Given the description of an element on the screen output the (x, y) to click on. 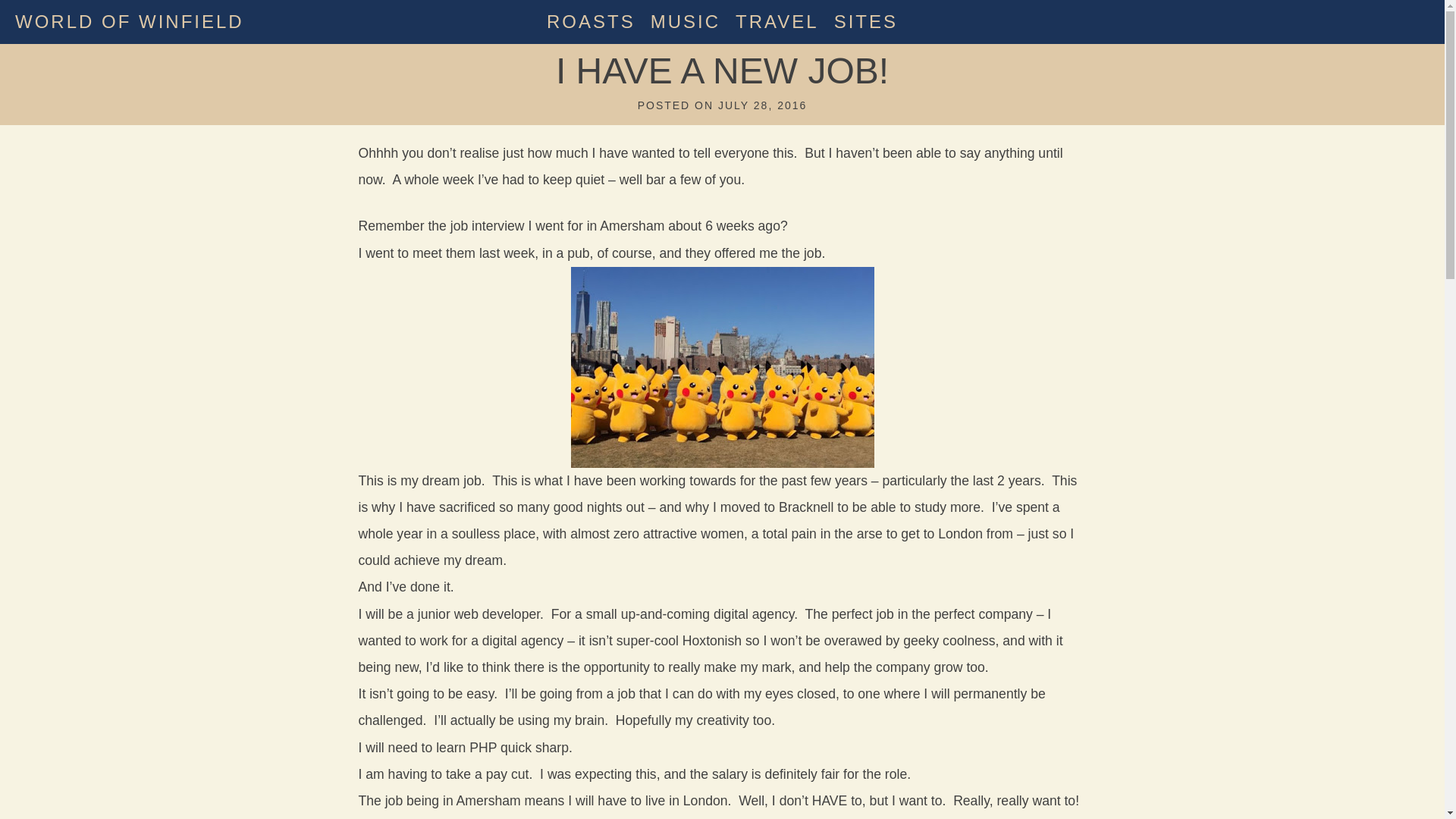
ROASTS (590, 22)
SITES (866, 22)
TRAVEL (776, 22)
WORLD OF WINFIELD (129, 22)
MUSIC (685, 22)
